Given the description of an element on the screen output the (x, y) to click on. 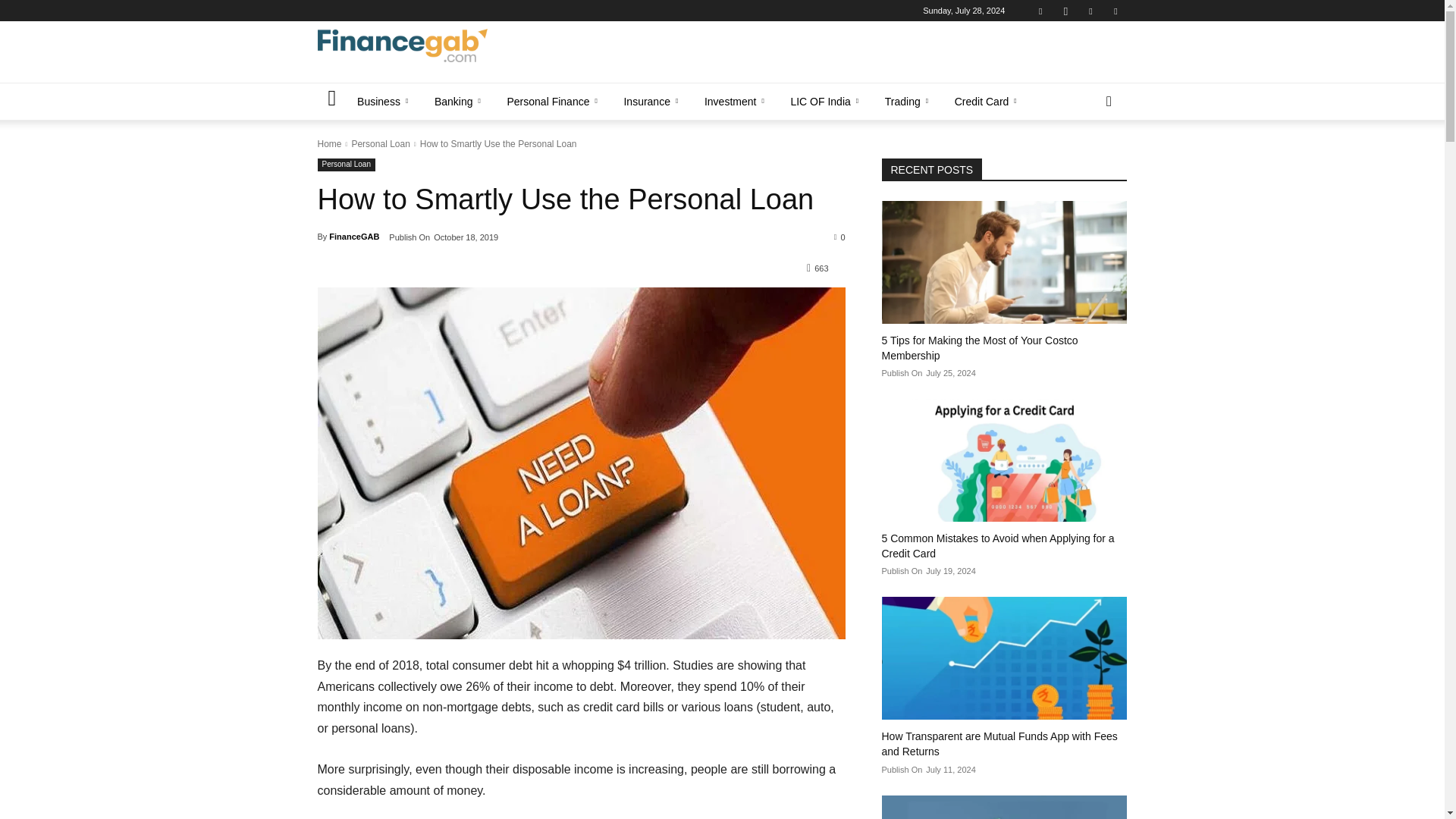
View all posts in Personal Loan (379, 143)
Instagram (1065, 10)
Twitter (1114, 10)
Facebook (1040, 10)
Linkedin (1090, 10)
